Given the description of an element on the screen output the (x, y) to click on. 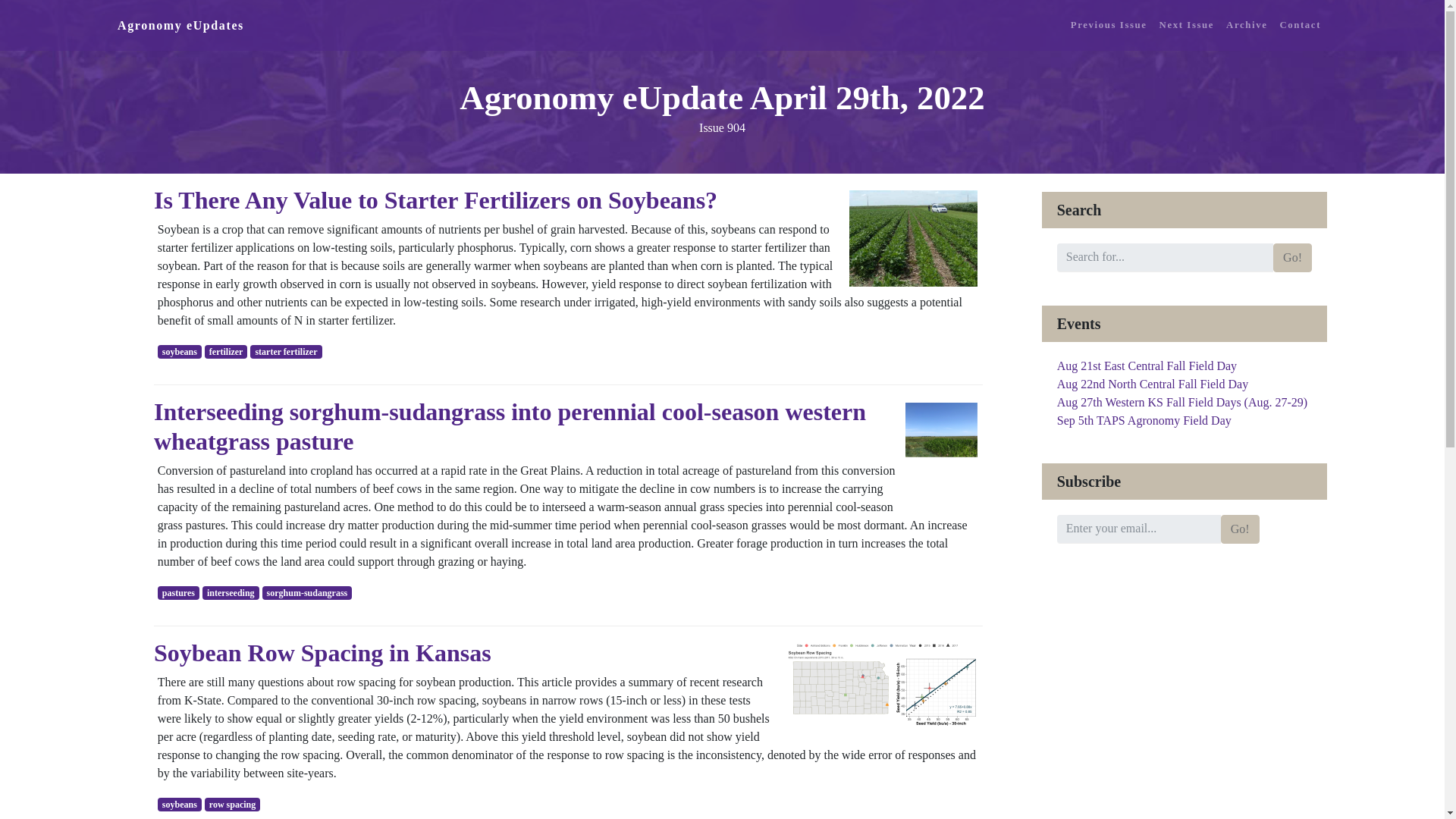
Go! (1240, 529)
Aug 21st East Central Fall Field Day (1146, 365)
Aug 22nd North Central Fall Field Day (1152, 383)
Archive (1246, 25)
Contact (1299, 25)
Soybean Row Spacing in Kansas (323, 652)
Agronomy eUpdates (180, 25)
pastures (178, 592)
Go! (1291, 257)
Is There Any Value to Starter Fertilizers on Soybeans? (435, 199)
